Given the description of an element on the screen output the (x, y) to click on. 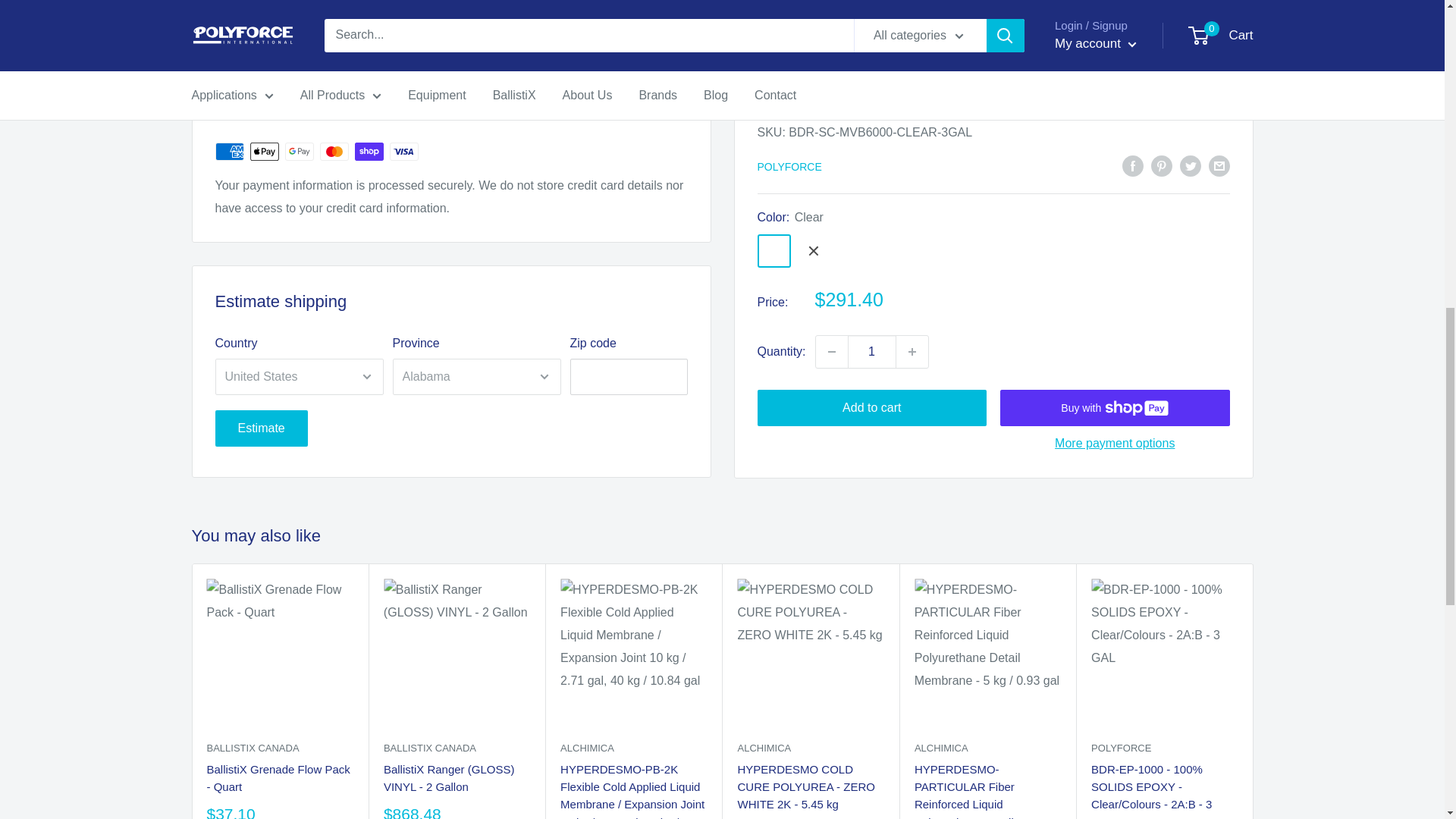
Technical Data Sheet (272, 12)
